Given the description of an element on the screen output the (x, y) to click on. 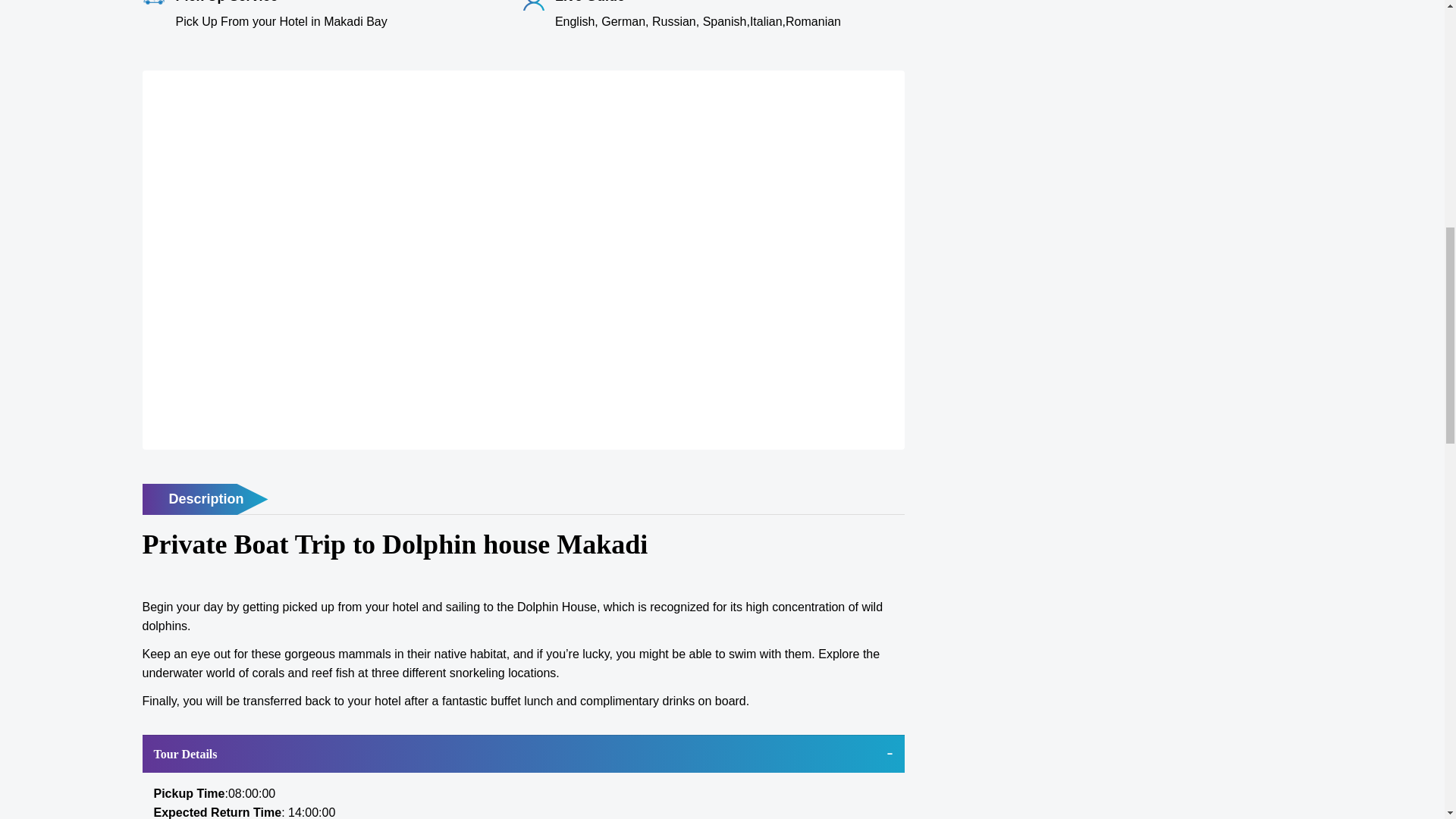
Tour Details (523, 753)
Description (204, 499)
